Given the description of an element on the screen output the (x, y) to click on. 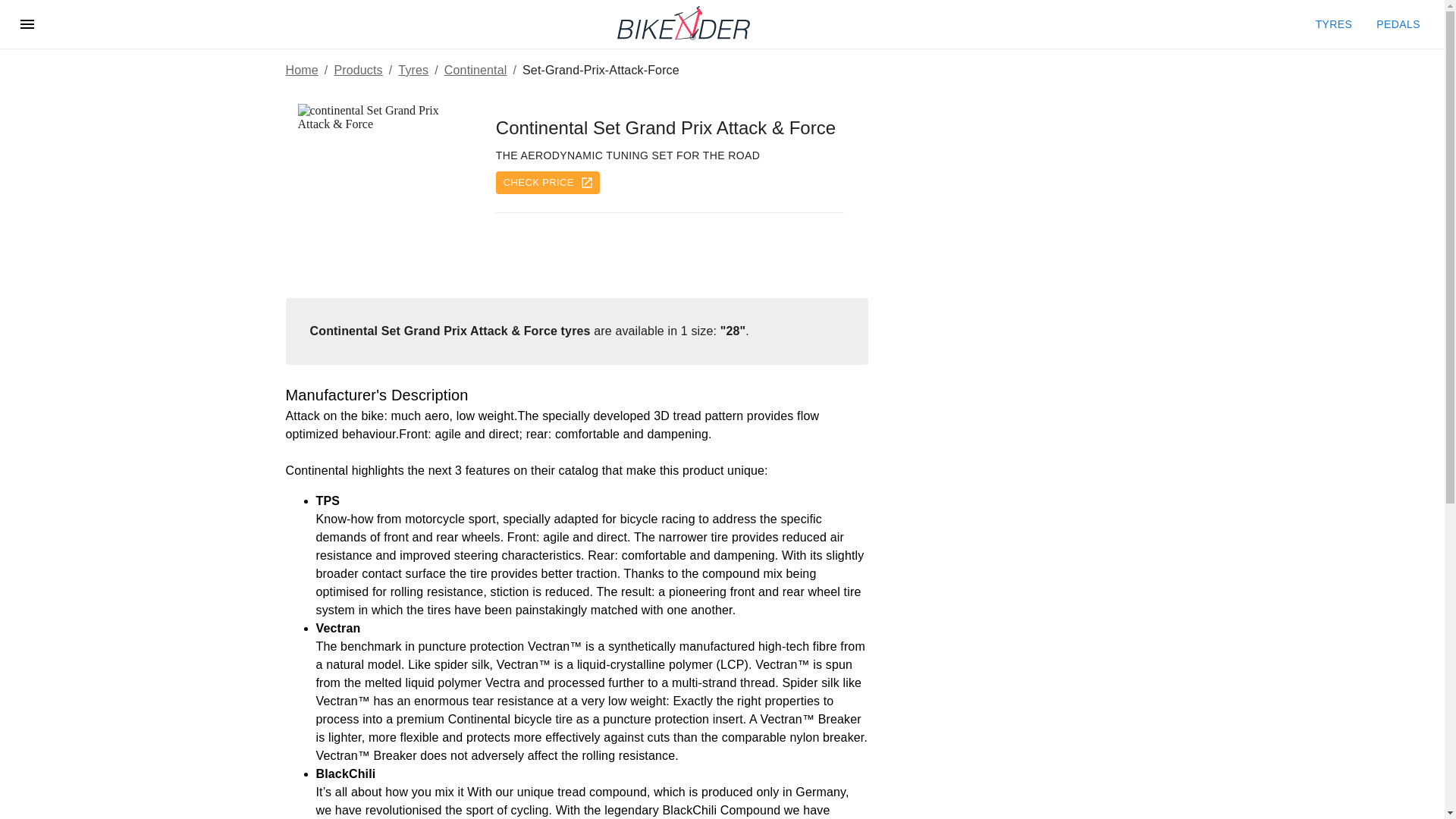
PEDALS (1398, 24)
TYRES (1333, 24)
Products (357, 69)
Home (301, 69)
Tyres (412, 69)
Continental (475, 69)
CHECK PRICE (547, 182)
